Given the description of an element on the screen output the (x, y) to click on. 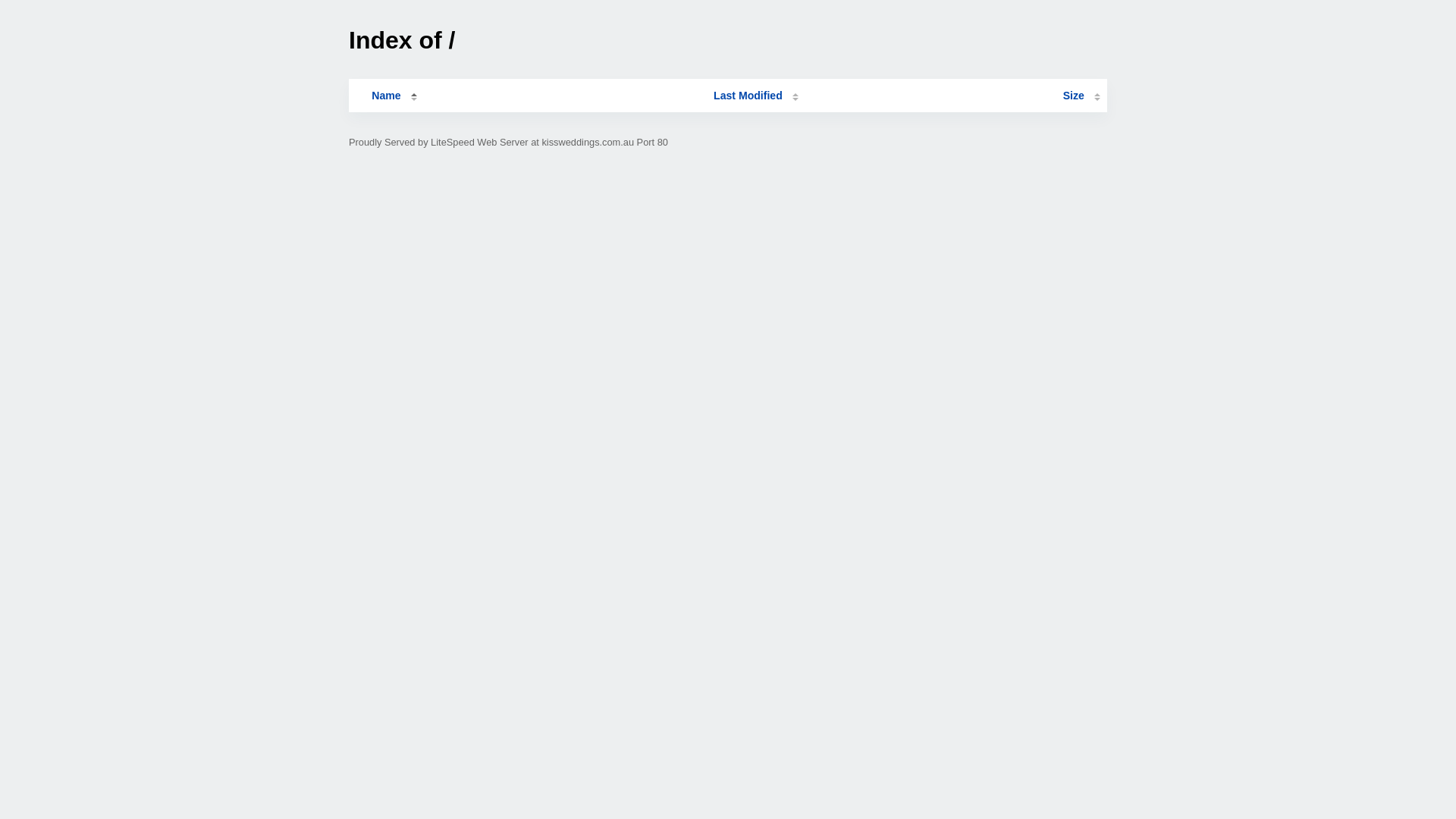
Name Element type: text (385, 95)
Last Modified Element type: text (755, 95)
Size Element type: text (1081, 95)
